Given the description of an element on the screen output the (x, y) to click on. 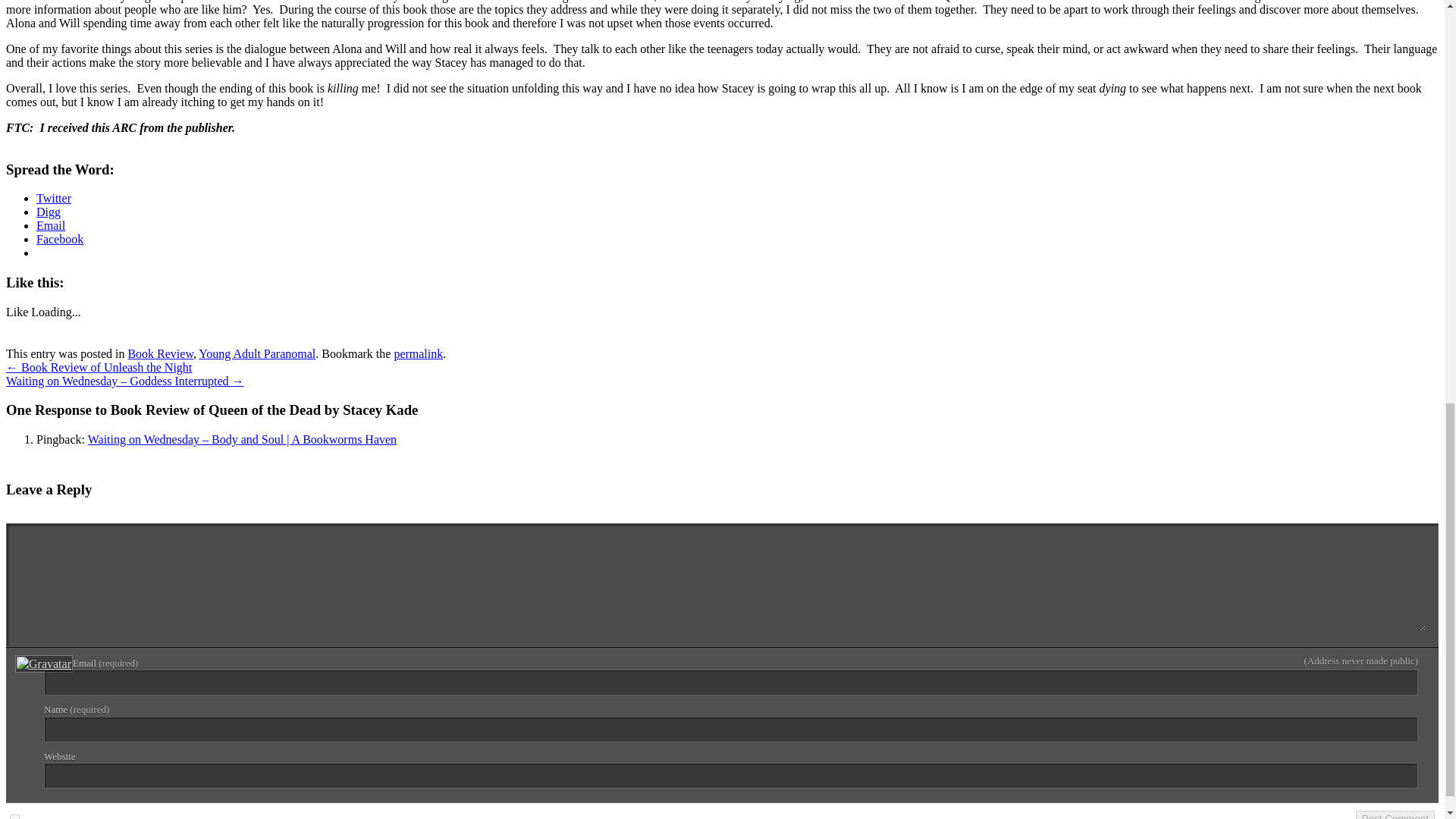
Book Review (160, 353)
permalink (417, 353)
Email (50, 225)
Click to email this to a friend (50, 225)
Click to share on Twitter (53, 197)
Share on Facebook (59, 238)
Young Adult Paranomal (256, 353)
Twitter (53, 197)
View all posts in Book Review (160, 353)
Click to Digg this post (48, 211)
